Given the description of an element on the screen output the (x, y) to click on. 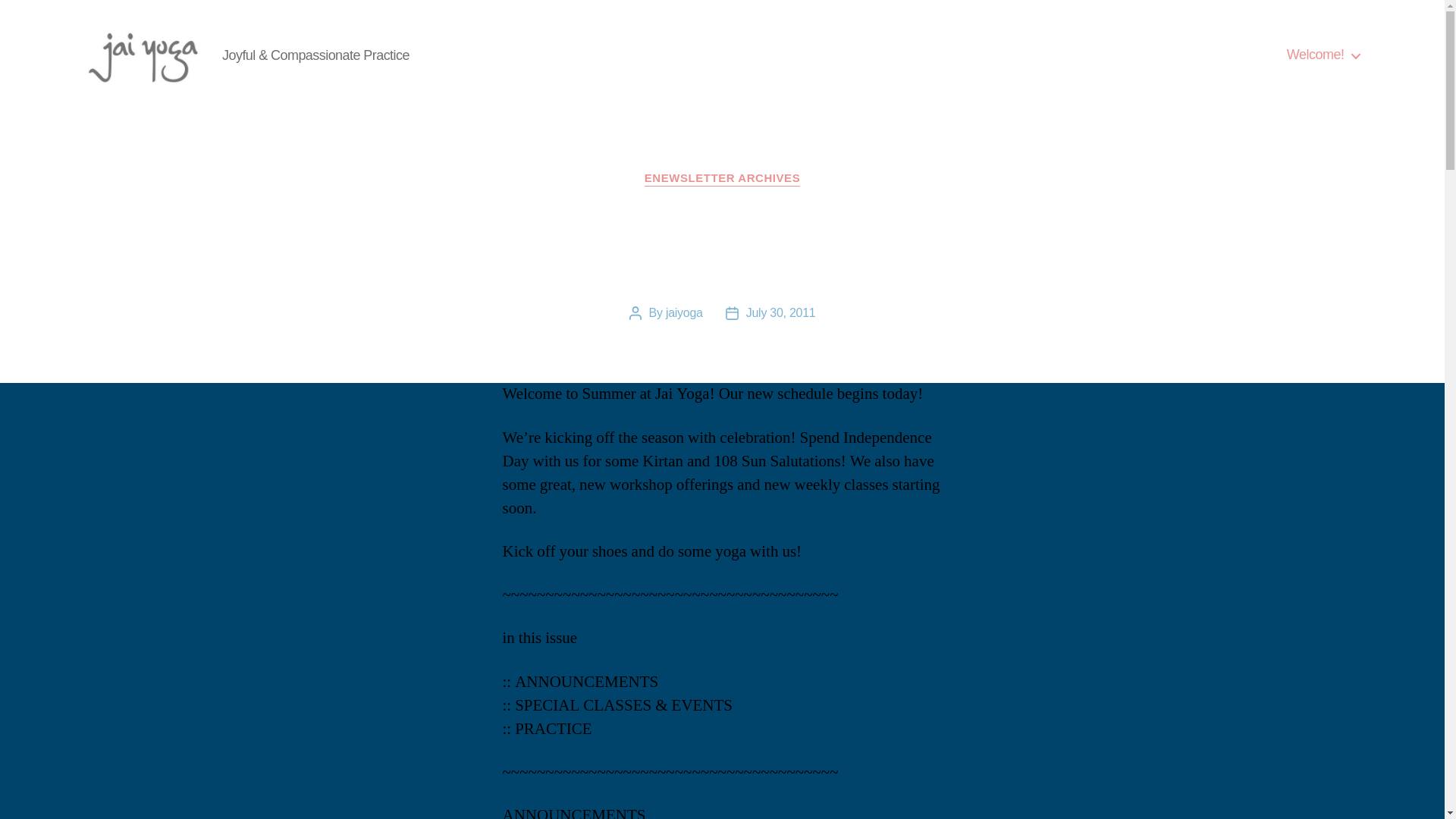
jaiyoga (684, 312)
ENEWSLETTER ARCHIVES (722, 178)
July 30, 2011 (780, 312)
Welcome! (1323, 54)
